Given the description of an element on the screen output the (x, y) to click on. 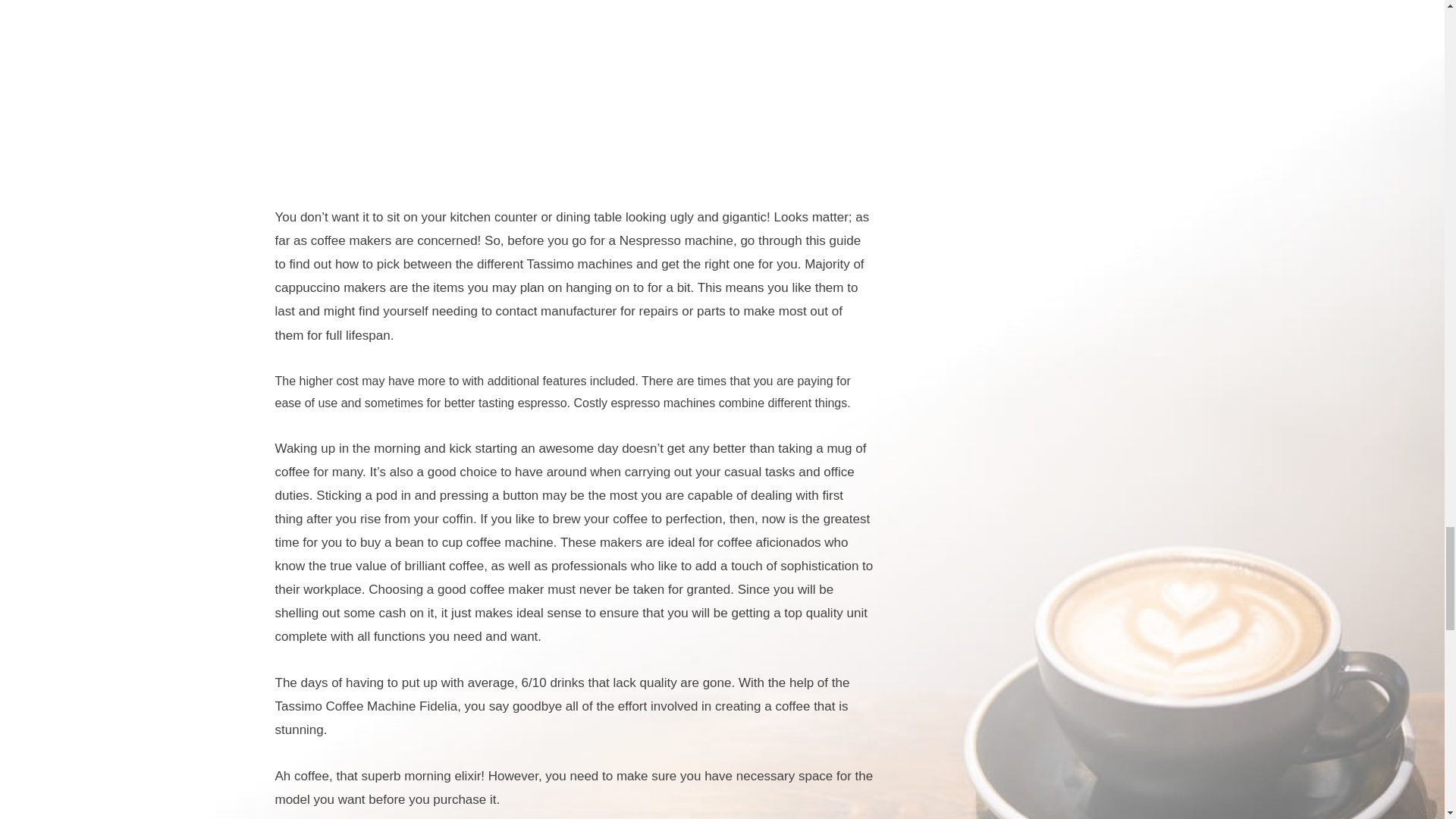
Best Pump Coffee Machine (573, 87)
